Given the description of an element on the screen output the (x, y) to click on. 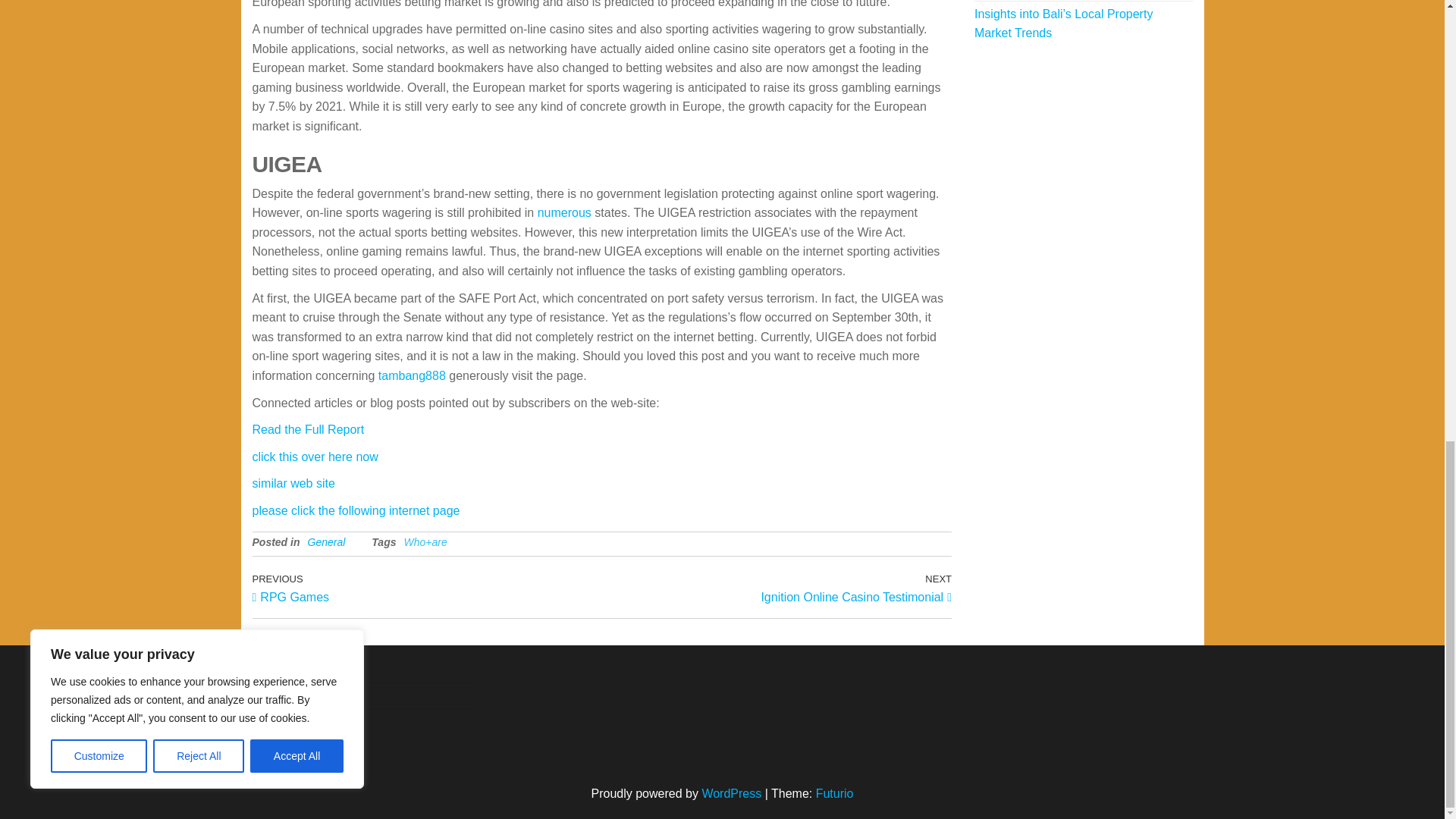
tambang888 (426, 587)
similar web site (777, 587)
click this over here now (411, 375)
General (292, 482)
numerous (314, 456)
Read the Full Report (326, 541)
please click the following internet page (564, 212)
